Given the description of an element on the screen output the (x, y) to click on. 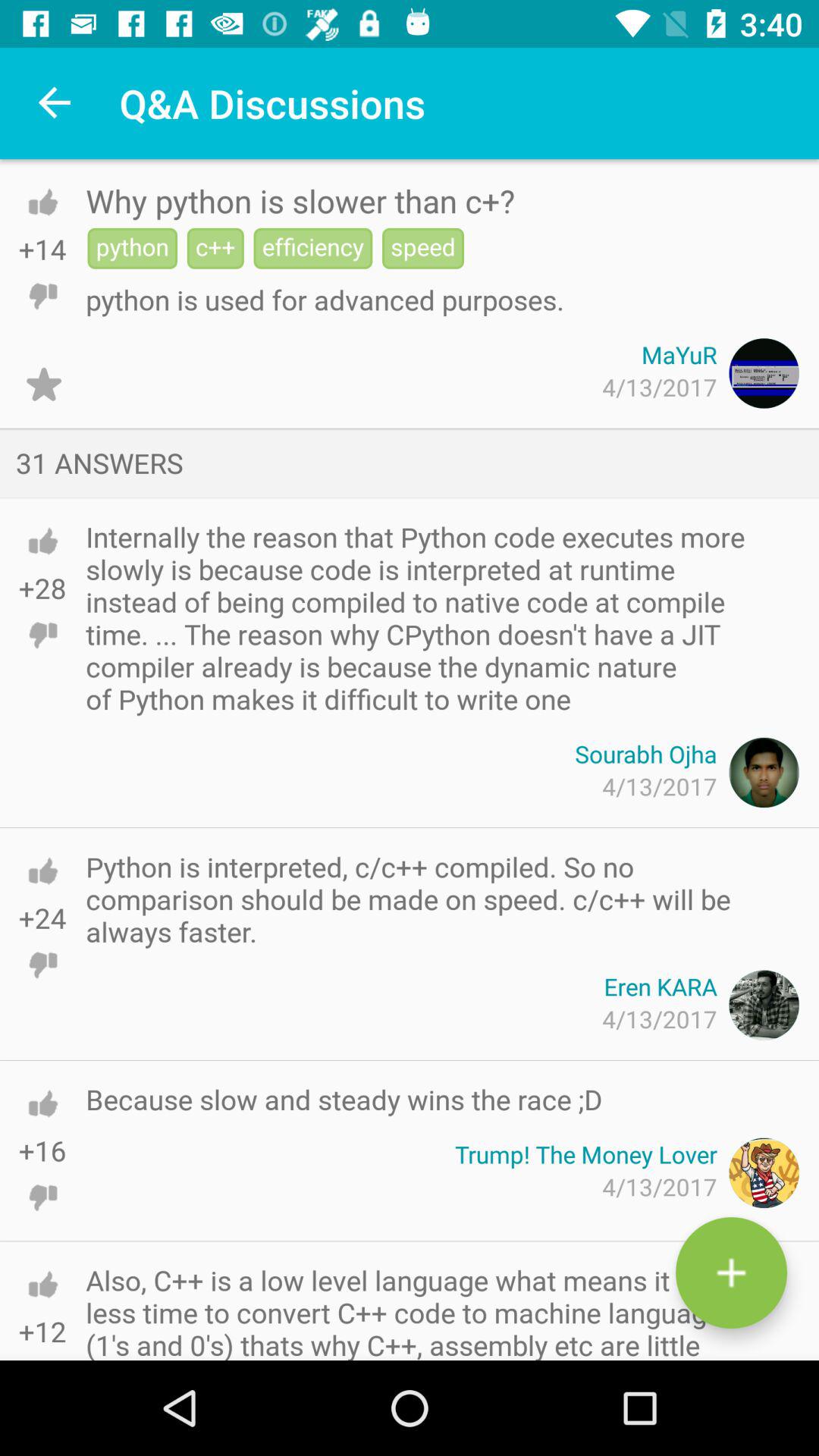
like the article (42, 202)
